Given the description of an element on the screen output the (x, y) to click on. 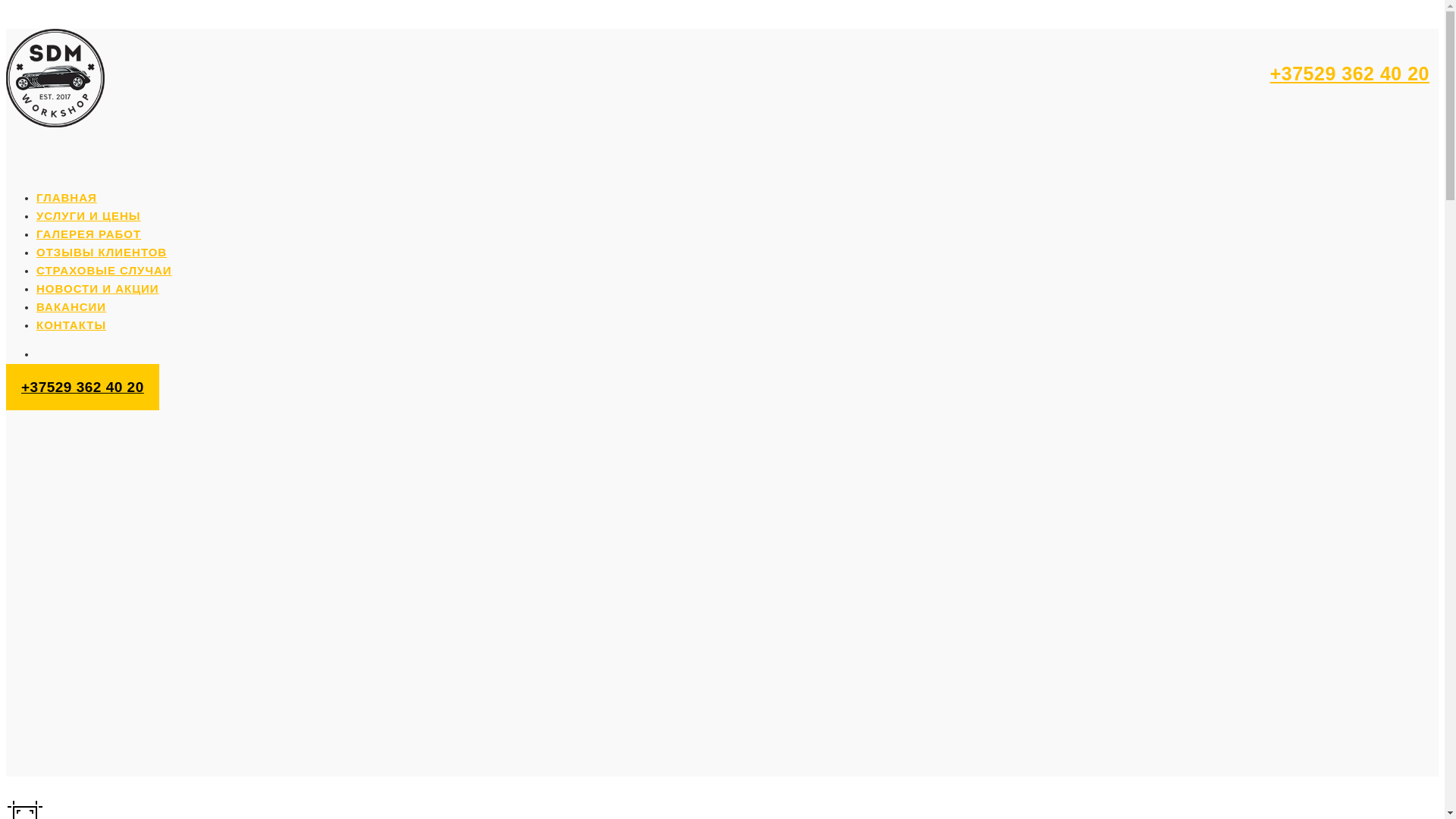
+37529 362 40 20 Element type: text (1349, 73)
+37529 362 40 20 Element type: text (82, 387)
